Given the description of an element on the screen output the (x, y) to click on. 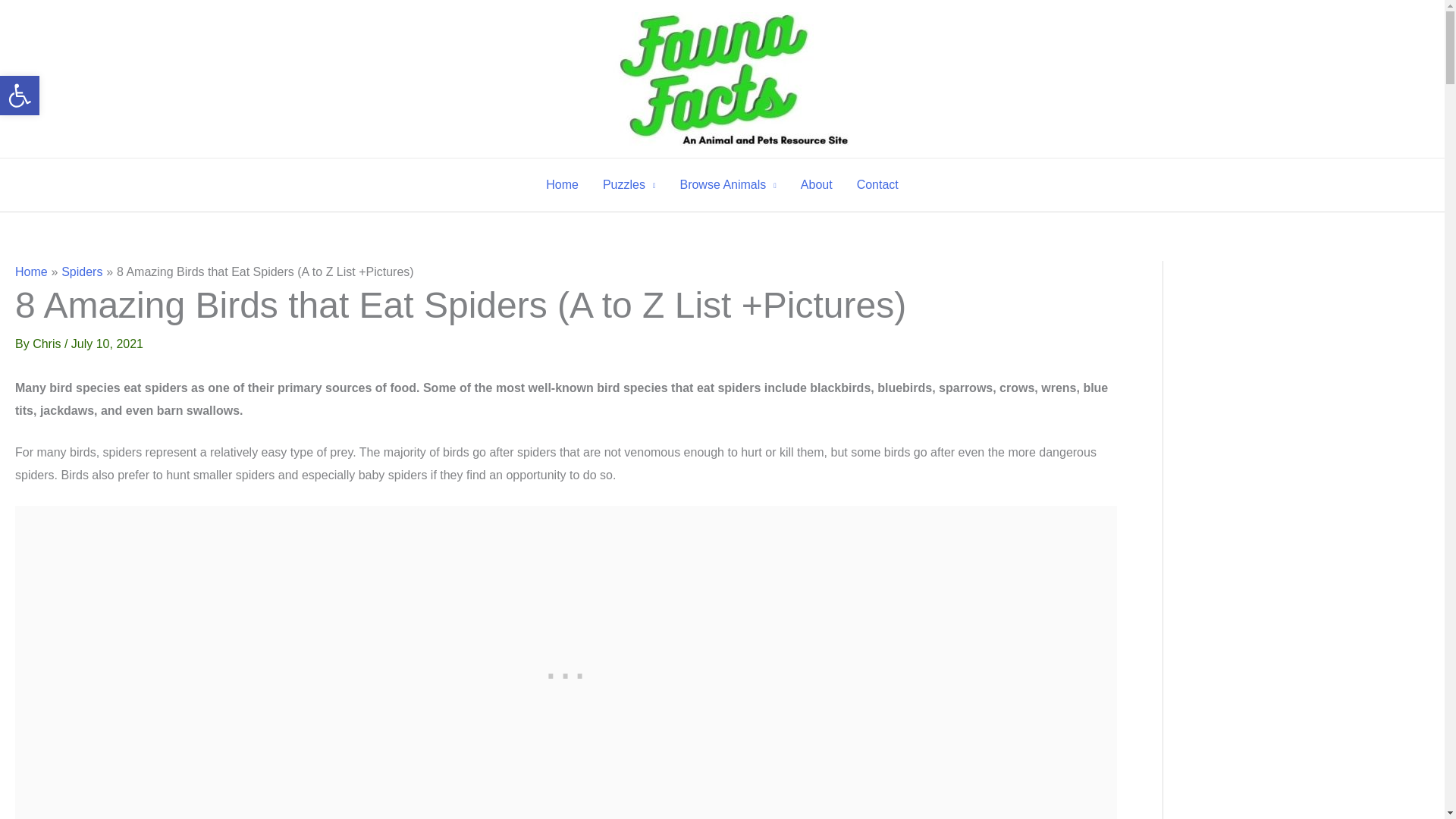
Accessibility Tools (19, 95)
Browse Animals (726, 184)
Contact (877, 184)
View all posts by Chris (48, 343)
About (816, 184)
Accessibility Tools (19, 95)
Puzzles (19, 95)
Home (629, 184)
